Given the description of an element on the screen output the (x, y) to click on. 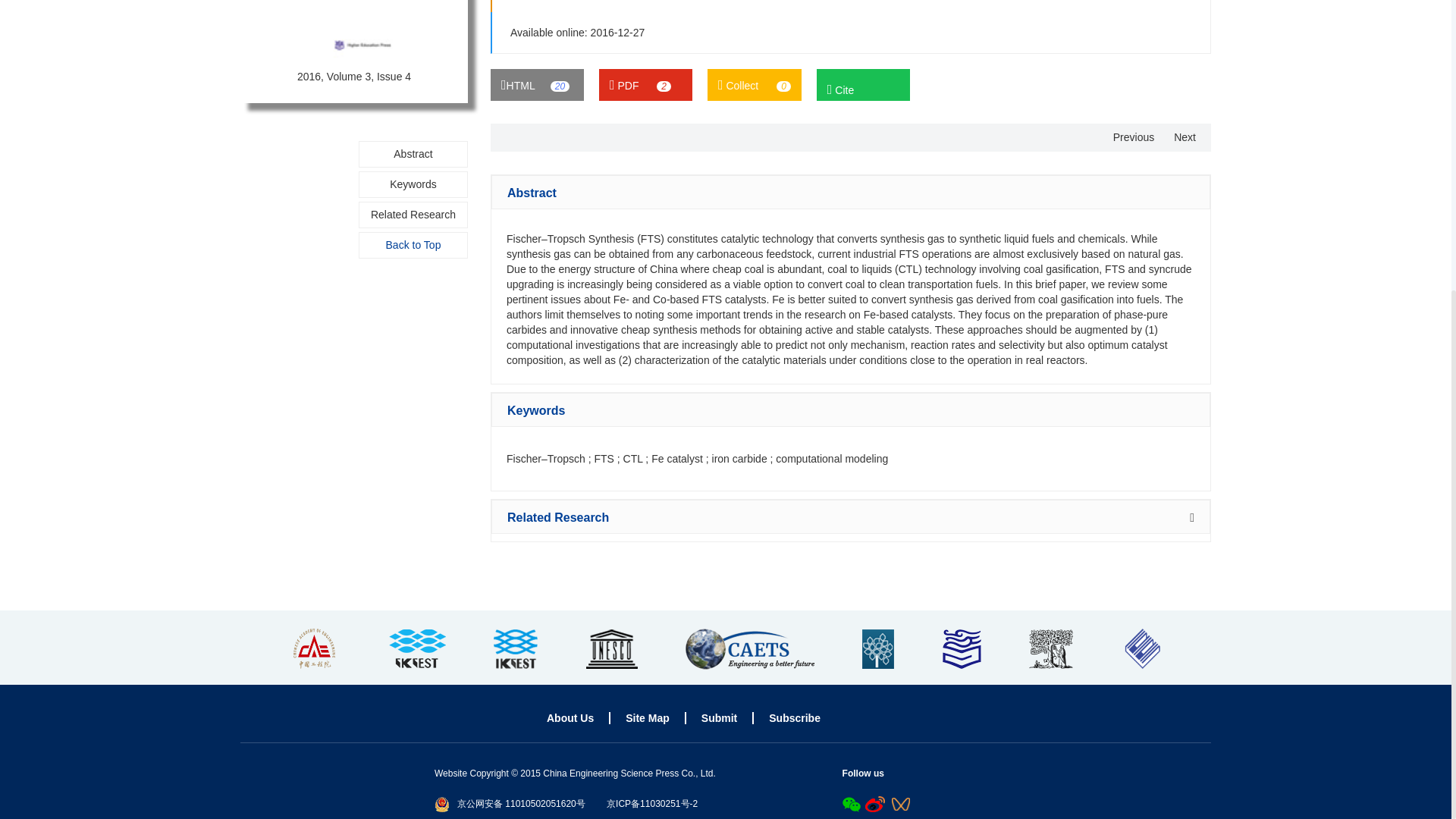
Related Research (412, 214)
FTS (603, 458)
CTL (633, 458)
PDF 2 (645, 84)
Keywords (412, 184)
Cite (863, 84)
Abstract (412, 153)
Back to Top (412, 244)
Collect 0 (754, 84)
Fe catalyst (676, 458)
HTML20 (536, 84)
